Given the description of an element on the screen output the (x, y) to click on. 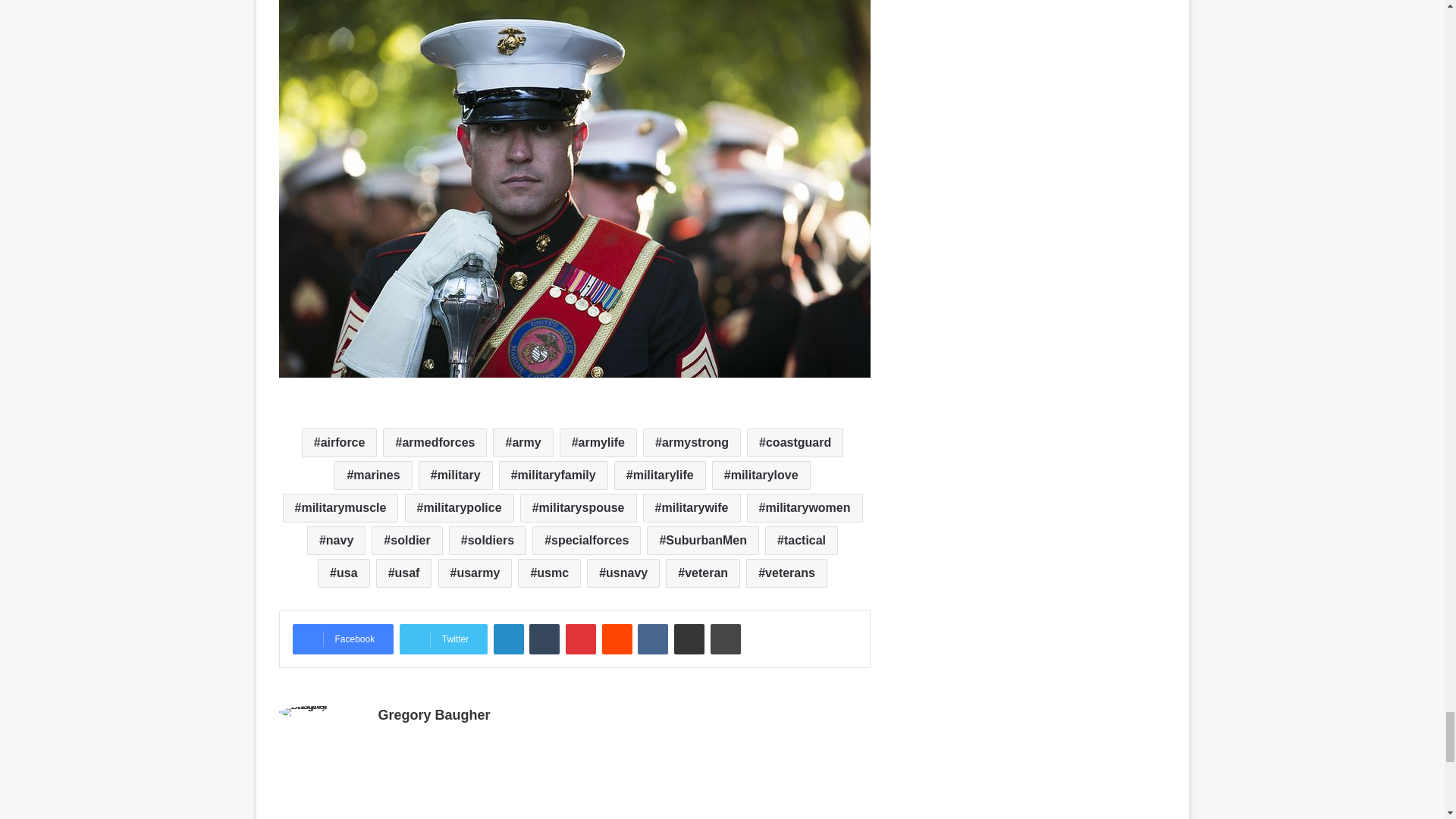
Print (725, 639)
armystrong (692, 442)
Twitter (442, 639)
airforce (339, 442)
marines (373, 475)
armedforces (434, 442)
Reddit (616, 639)
military (456, 475)
militarylove (760, 475)
Tumblr (544, 639)
militaryfamily (553, 475)
VKontakte (652, 639)
Pinterest (580, 639)
Facebook (343, 639)
armylife (598, 442)
